Given the description of an element on the screen output the (x, y) to click on. 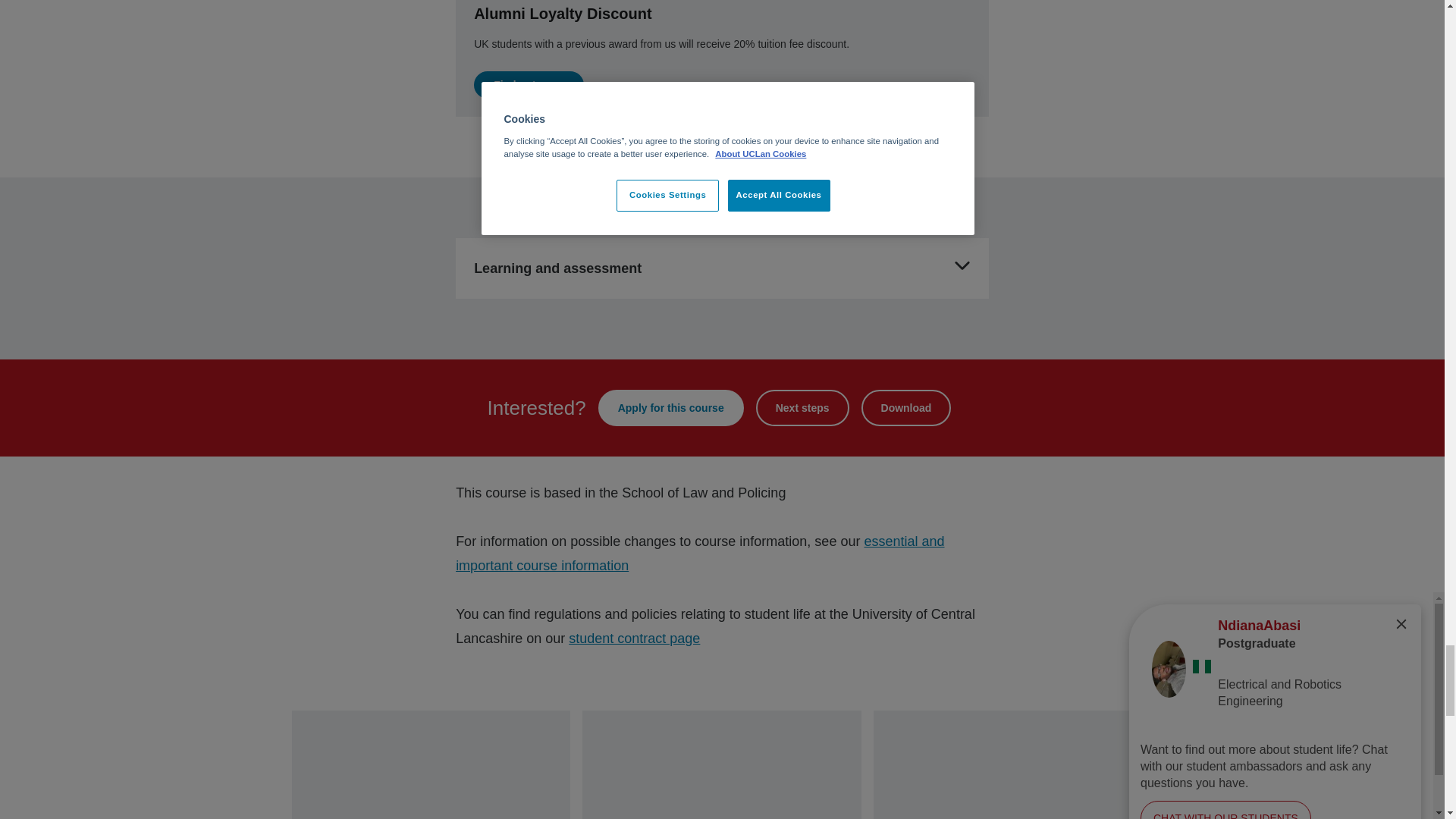
Financial Investigation, MSc as PDF (906, 407)
